Given the description of an element on the screen output the (x, y) to click on. 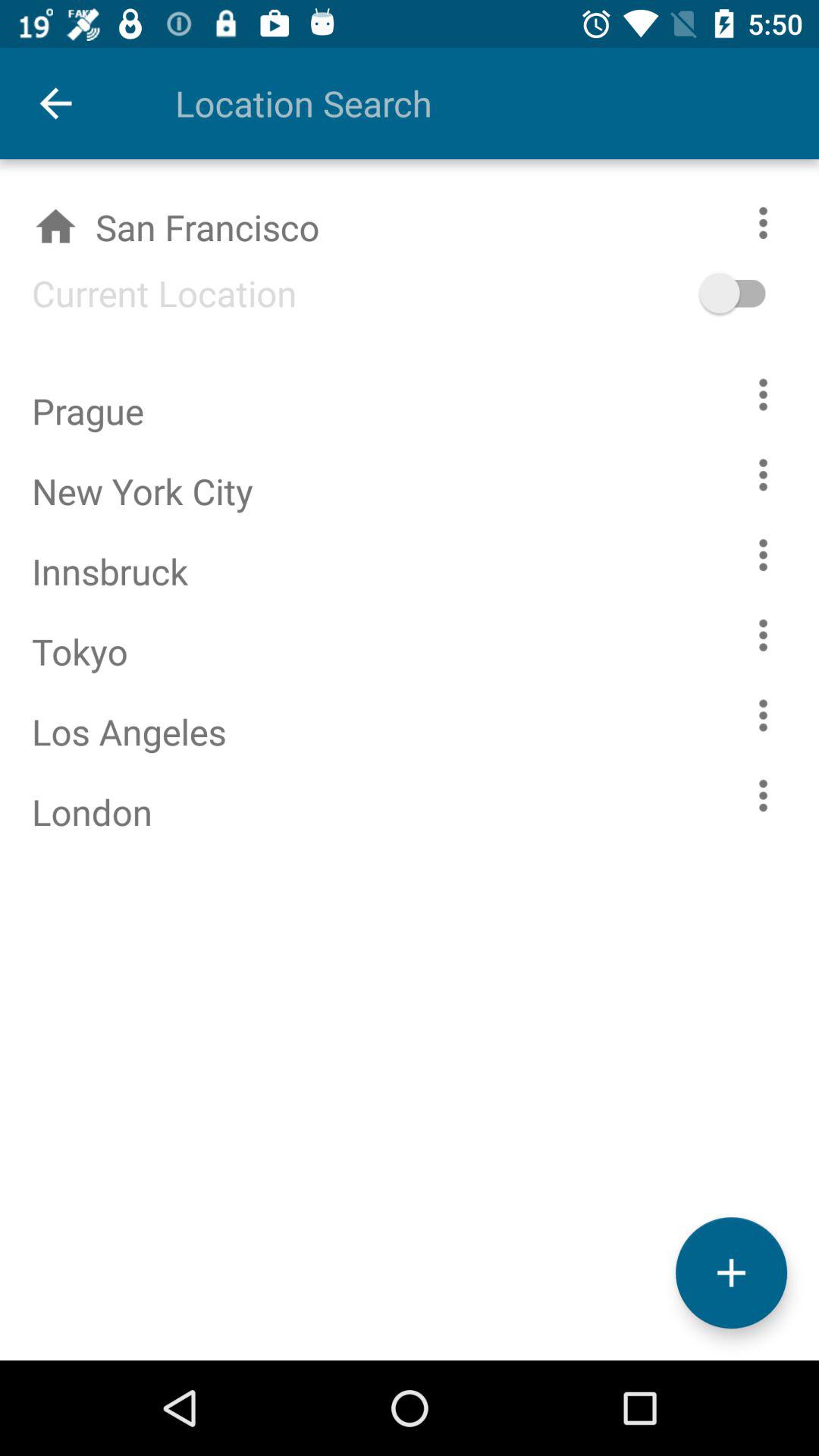
activate san francisco more options (779, 222)
